Given the description of an element on the screen output the (x, y) to click on. 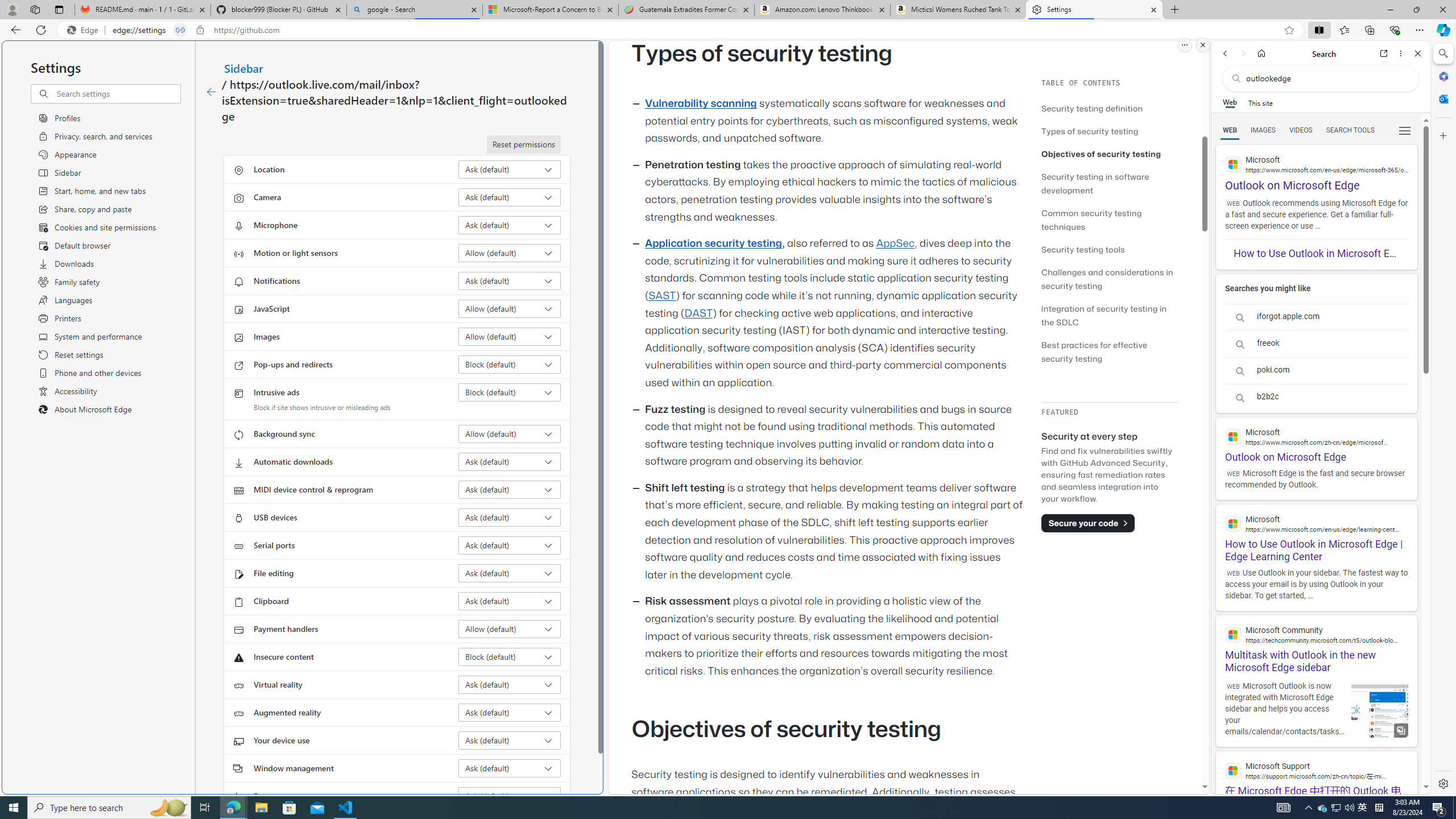
MIDI device control & reprogram Ask (default) (509, 489)
USB devices Ask (default) (509, 517)
